Given the description of an element on the screen output the (x, y) to click on. 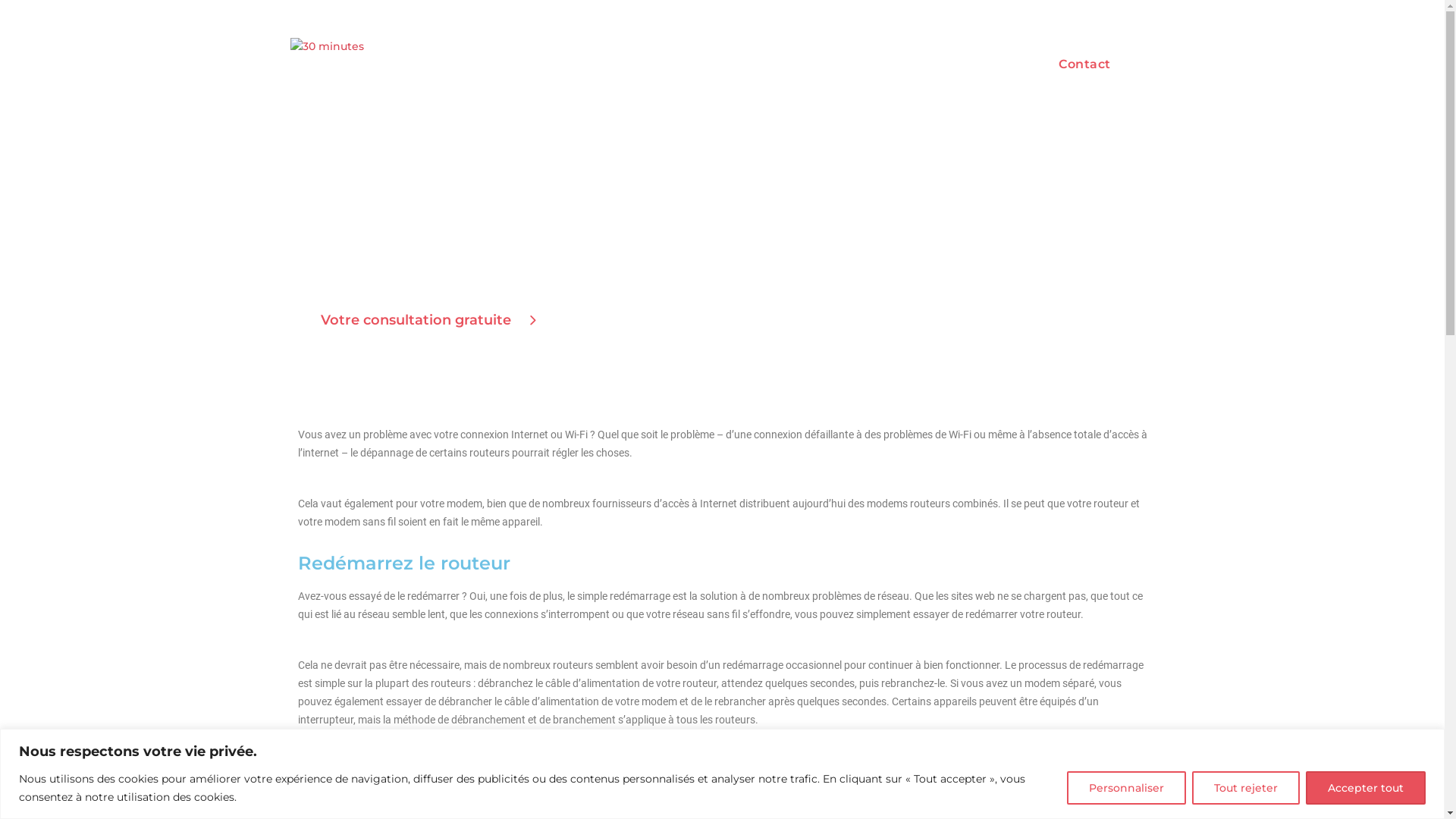
Nos prix Element type: text (787, 64)
Contact Element type: text (1084, 64)
Accueil Element type: text (714, 64)
Tout rejeter Element type: text (1245, 786)
Personnaliser Element type: text (1126, 786)
Qui sommes nous ? Element type: text (899, 64)
Blog Element type: text (999, 64)
Accepter tout Element type: text (1365, 786)
